Given the description of an element on the screen output the (x, y) to click on. 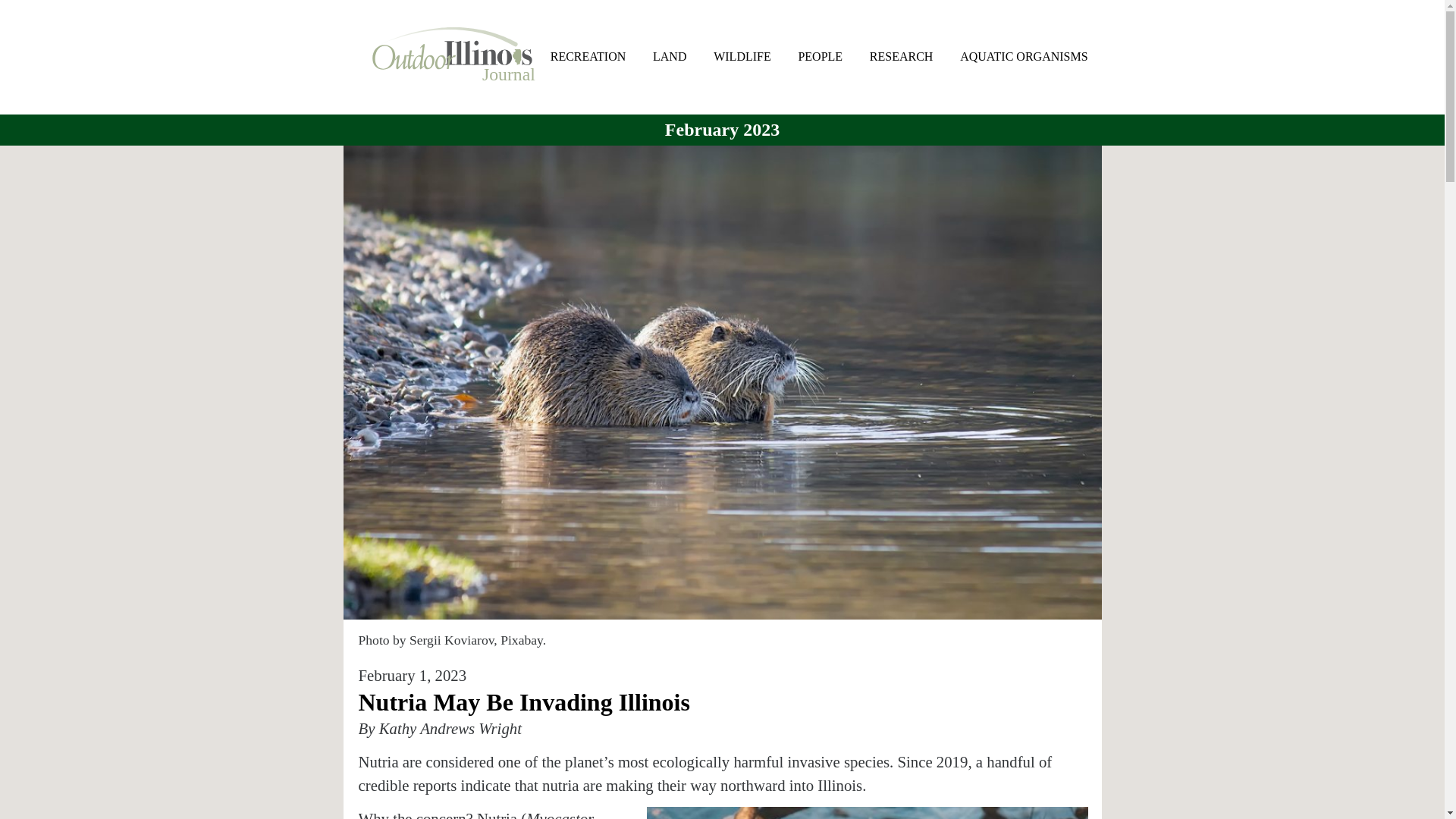
PEOPLE (820, 56)
LAND (668, 56)
RESEARCH (901, 56)
AQUATIC ORGANISMS (1023, 56)
RECREATION (588, 56)
WILDLIFE (742, 56)
